Given the description of an element on the screen output the (x, y) to click on. 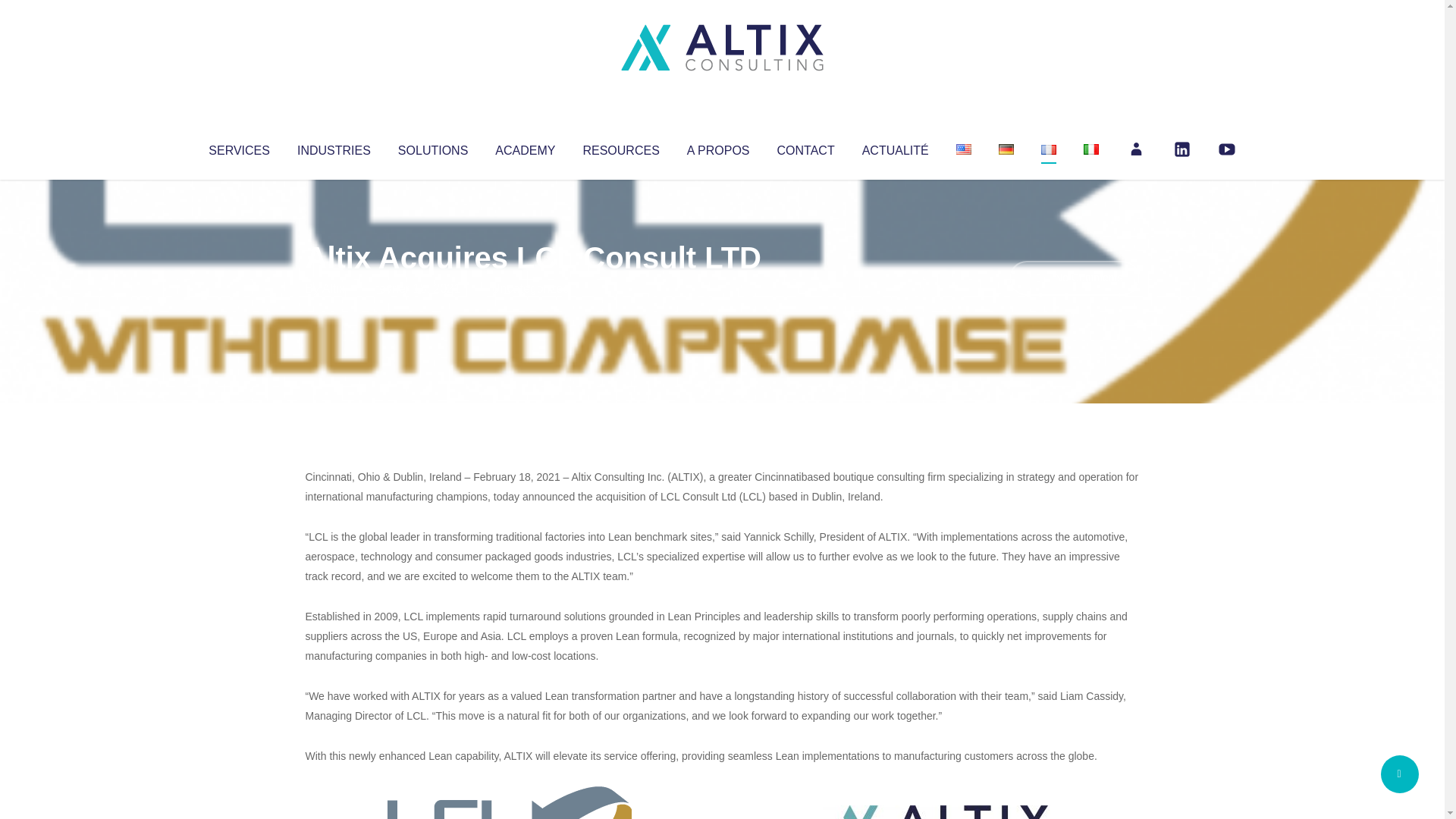
INDUSTRIES (334, 146)
SERVICES (238, 146)
ACADEMY (524, 146)
Altix (333, 287)
Articles par Altix (333, 287)
SOLUTIONS (432, 146)
A PROPOS (718, 146)
RESOURCES (620, 146)
No Comments (1073, 278)
Uncategorized (530, 287)
